Given the description of an element on the screen output the (x, y) to click on. 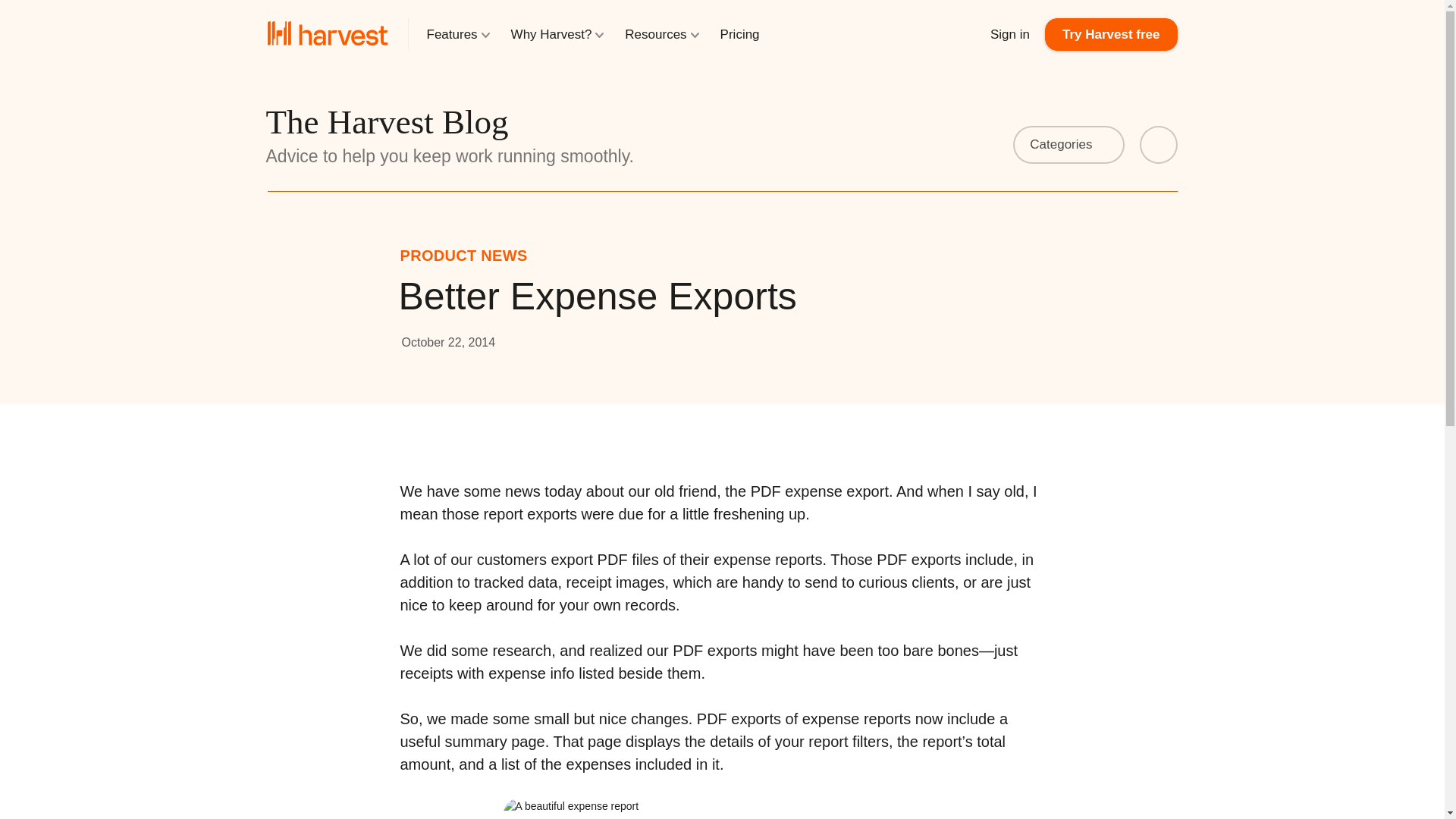
Features (457, 34)
